Given the description of an element on the screen output the (x, y) to click on. 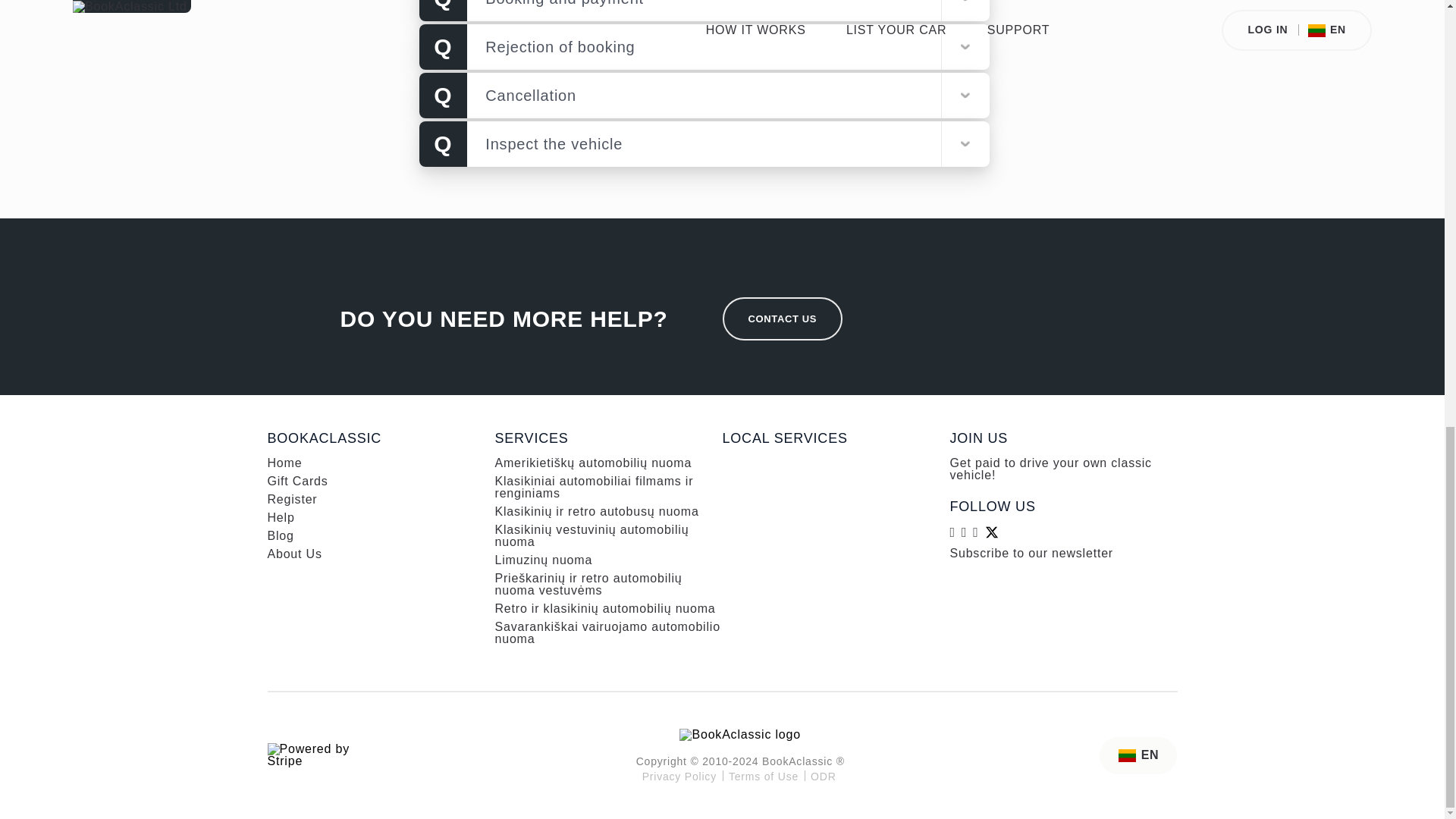
Gift Cards (296, 481)
CONTACT US (782, 318)
Terms of Use (763, 776)
Help (280, 517)
About Us (293, 553)
EN (1138, 755)
Get paid to drive your own classic vehicle! (1050, 468)
ODR (822, 776)
Blog (280, 535)
Klasikiniai automobiliai filmams ir renginiams (594, 487)
